Given the description of an element on the screen output the (x, y) to click on. 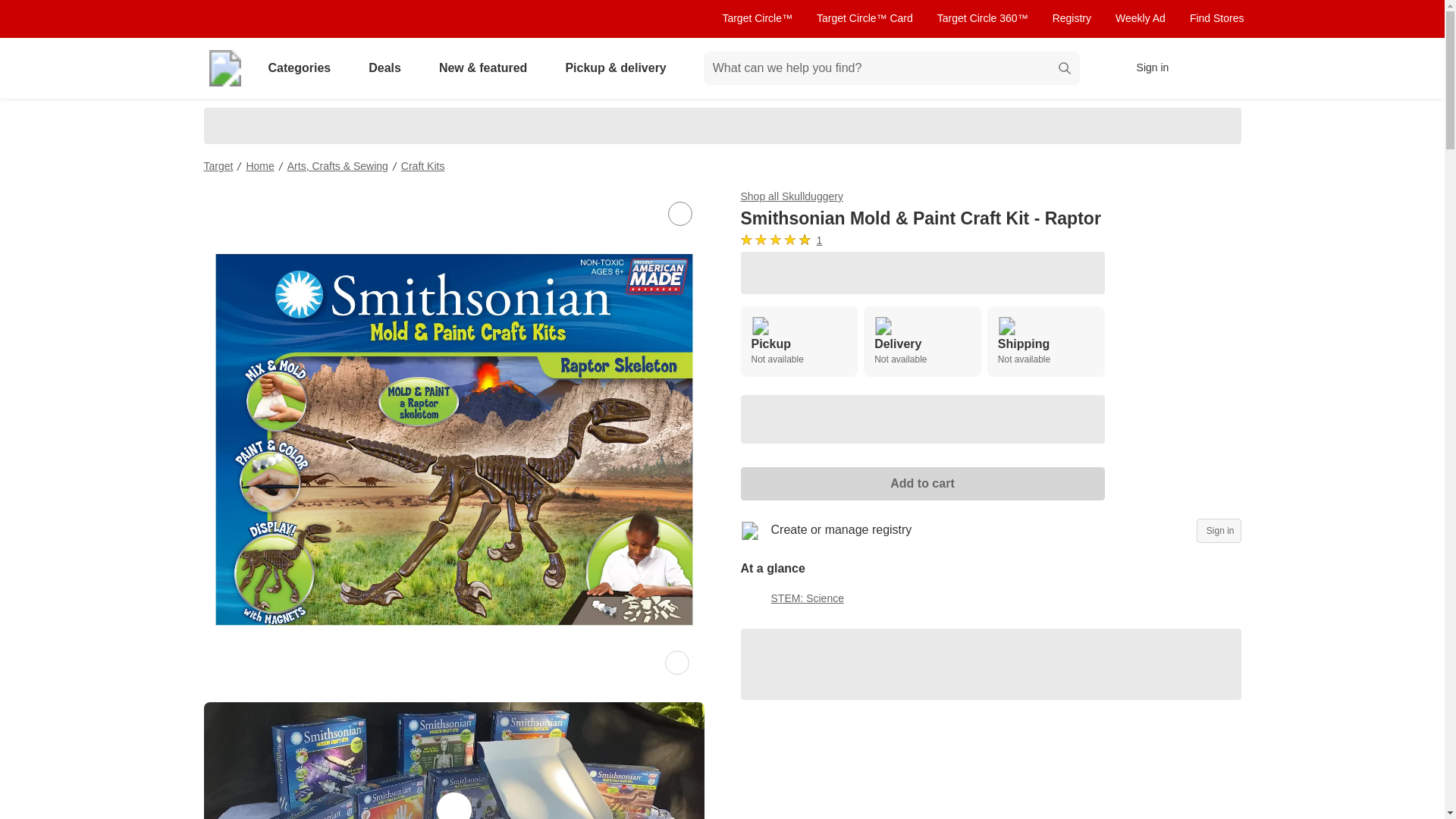
Target (217, 165)
Weekly Ad (788, 240)
Deals (1140, 18)
Categories (387, 68)
STEM: Science (301, 68)
Shop all Skullduggery (1046, 341)
Craft Kits (798, 341)
